Given the description of an element on the screen output the (x, y) to click on. 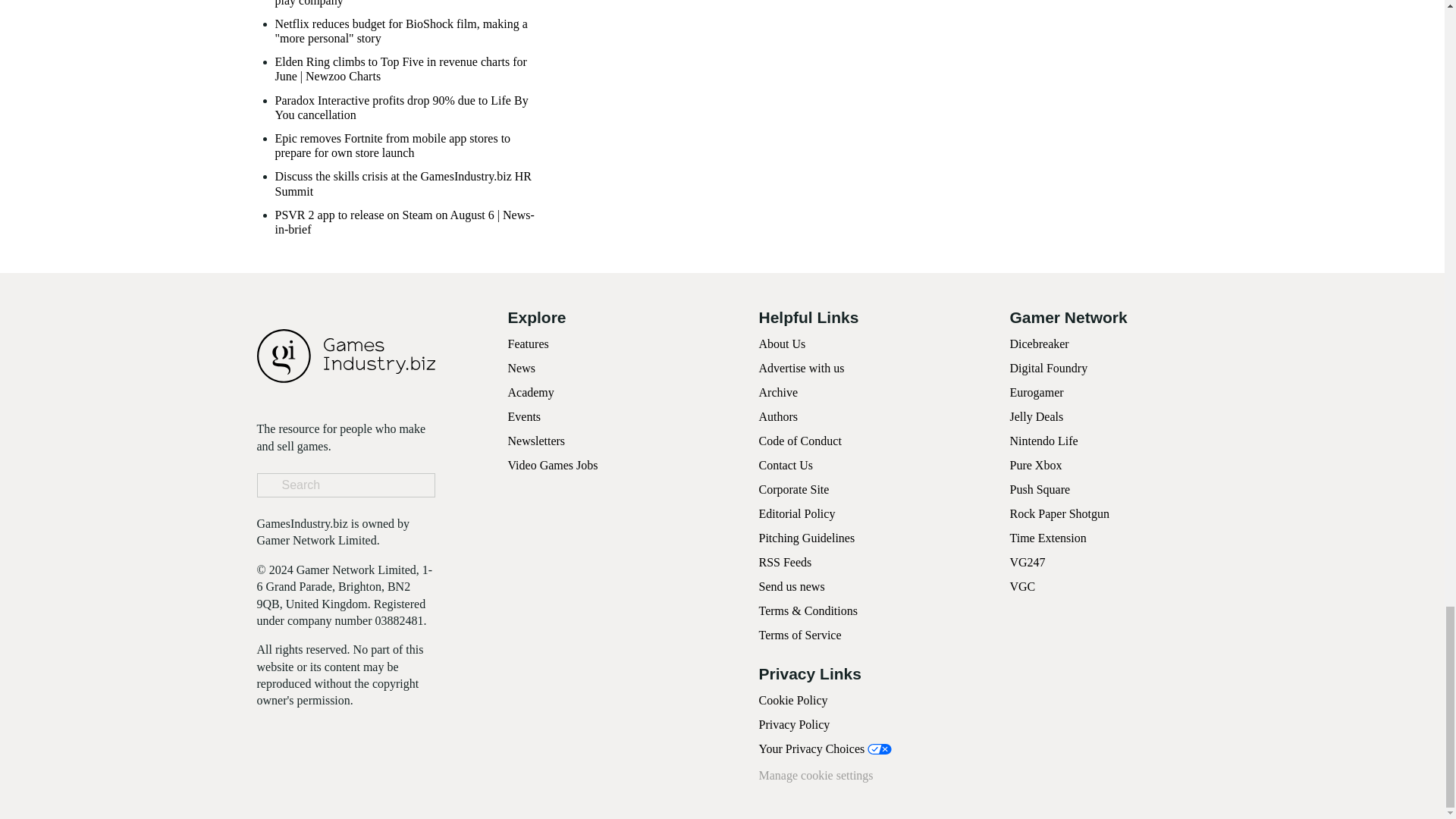
Push Square (1040, 489)
Eurogamer (1037, 391)
Rock Paper Shotgun (1059, 513)
Jelly Deals (1037, 416)
Eurogamer (1037, 391)
Authors (777, 416)
Editorial Policy (796, 513)
Contact Us (785, 464)
Academy (531, 391)
RSS Feeds (784, 562)
Contact Us (785, 464)
Pure Xbox (1036, 464)
Advertise with us (801, 367)
Your Privacy Choices (824, 748)
